Given the description of an element on the screen output the (x, y) to click on. 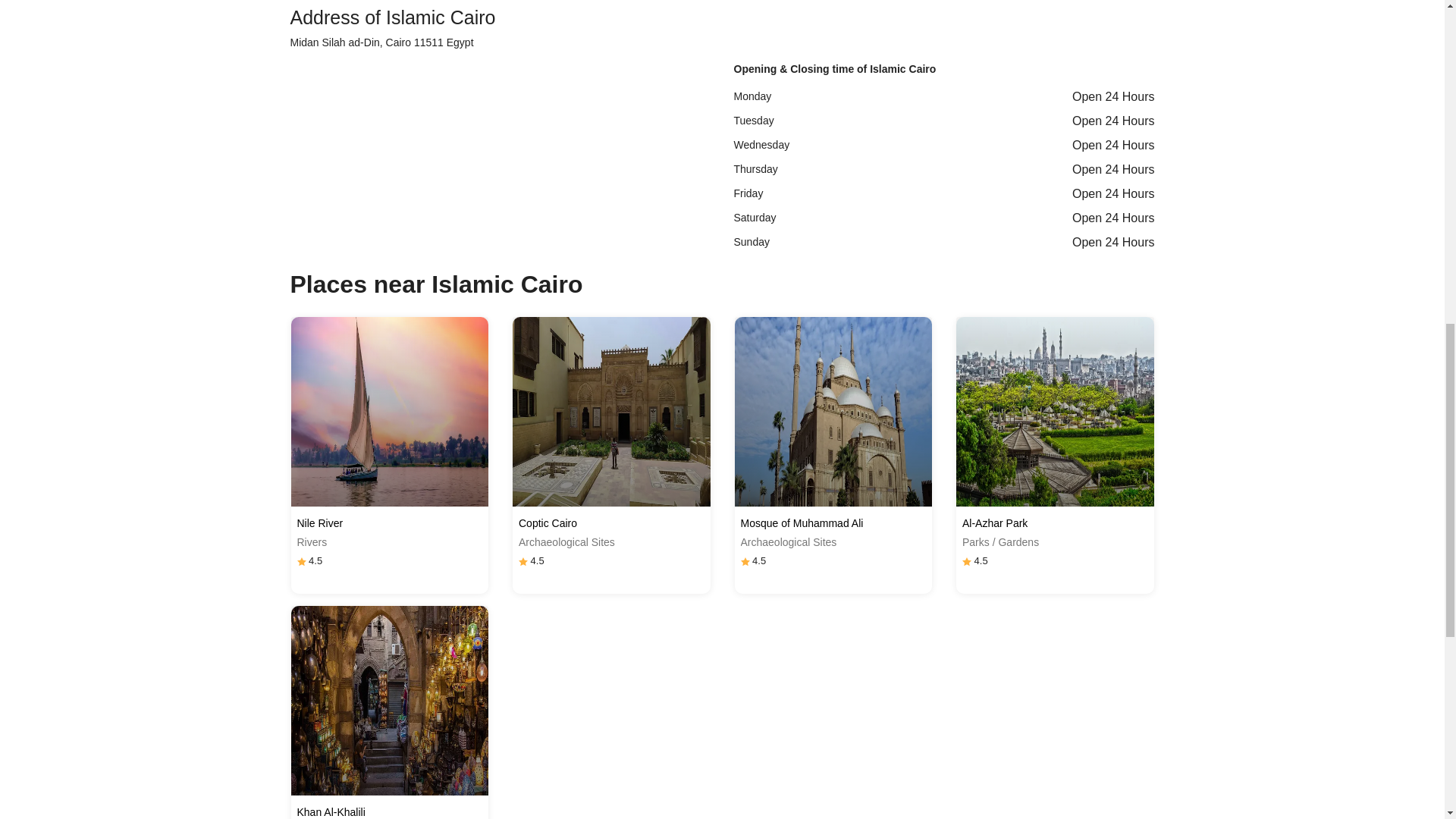
Archaeological Sites (611, 542)
Rivers (390, 542)
Explore Coptic Cairo  (611, 411)
Explore Khan Al-Khalili  (390, 700)
Explore Al-Azhar Park  (1055, 411)
Mosque of Muhammad Ali (832, 523)
Nile River (390, 523)
Explore Mosque of Muhammad Ali  (832, 411)
Coptic Cairo (611, 523)
Explore Nile River  (390, 411)
Archaeological Sites (832, 542)
Khan Al-Khalili (390, 811)
Al-Azhar Park (1055, 523)
